Given the description of an element on the screen output the (x, y) to click on. 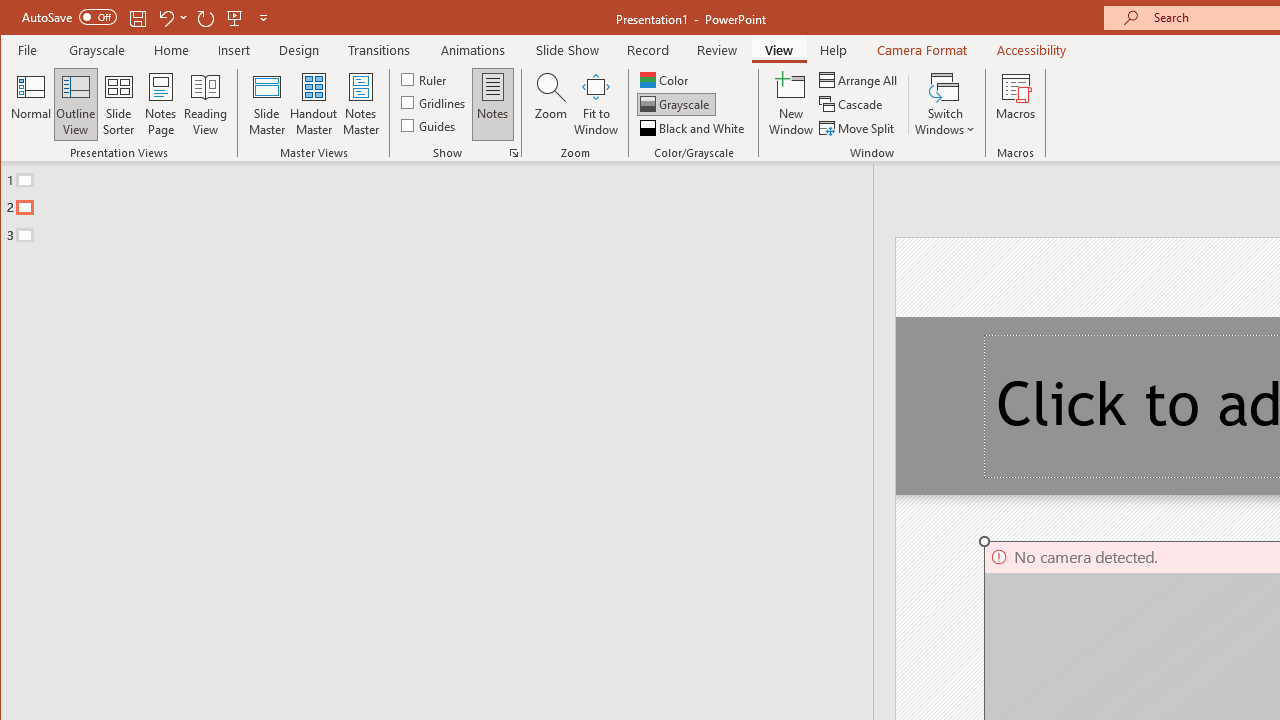
Switch Windows (944, 104)
Slide Master (266, 104)
Notes Master (360, 104)
Notes (493, 104)
Grid Settings... (513, 152)
Outline (445, 203)
Ruler (425, 78)
Guides (430, 124)
Grayscale (676, 103)
